Given the description of an element on the screen output the (x, y) to click on. 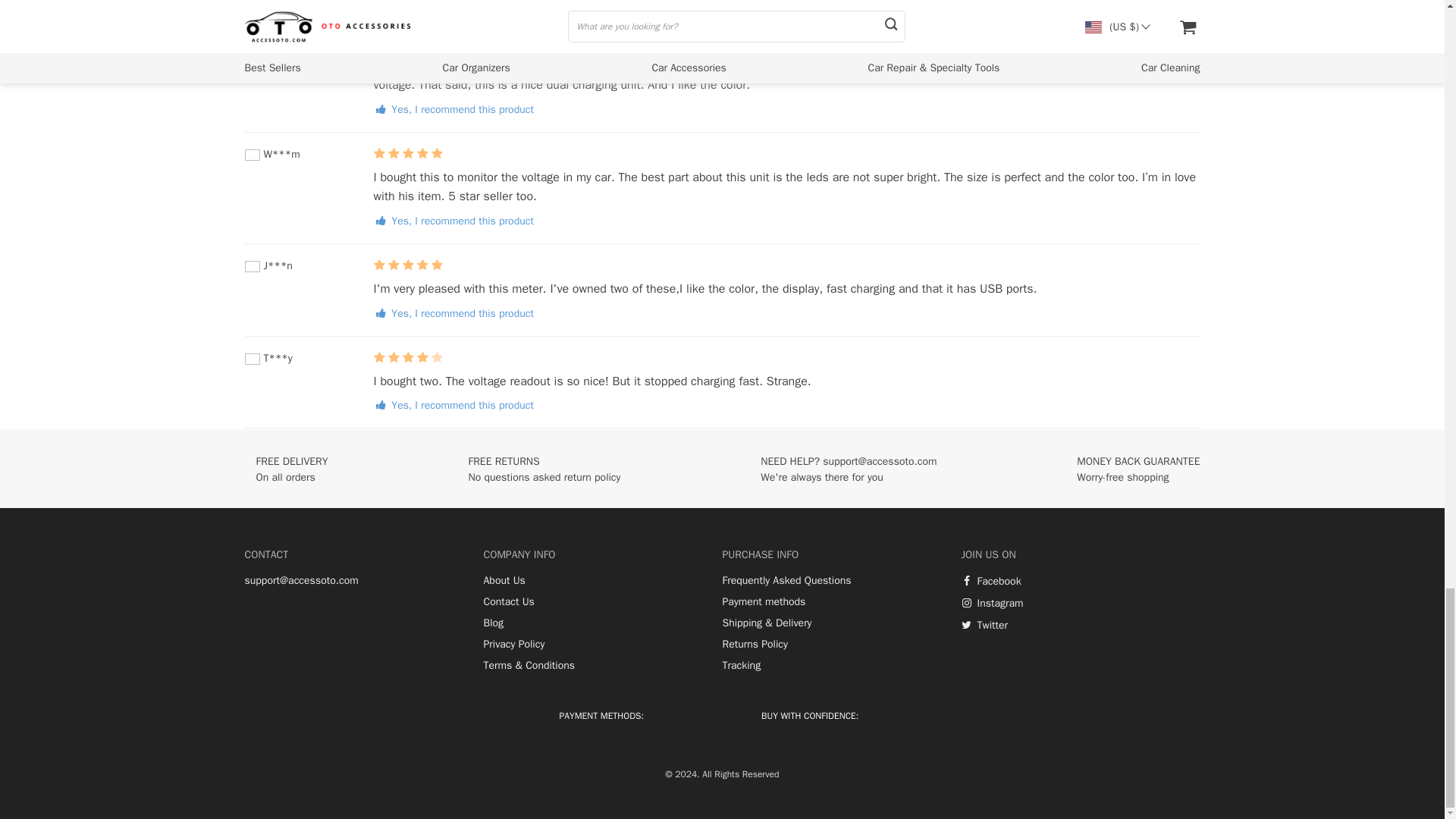
Frequently Asked Questions (786, 581)
Returns Policy (754, 644)
Payment methods (763, 602)
About Us (504, 581)
Contact Us (508, 602)
Blog (493, 622)
Instagram (991, 603)
Facebook (991, 581)
Privacy Policy (513, 644)
Tracking (741, 665)
